Given the description of an element on the screen output the (x, y) to click on. 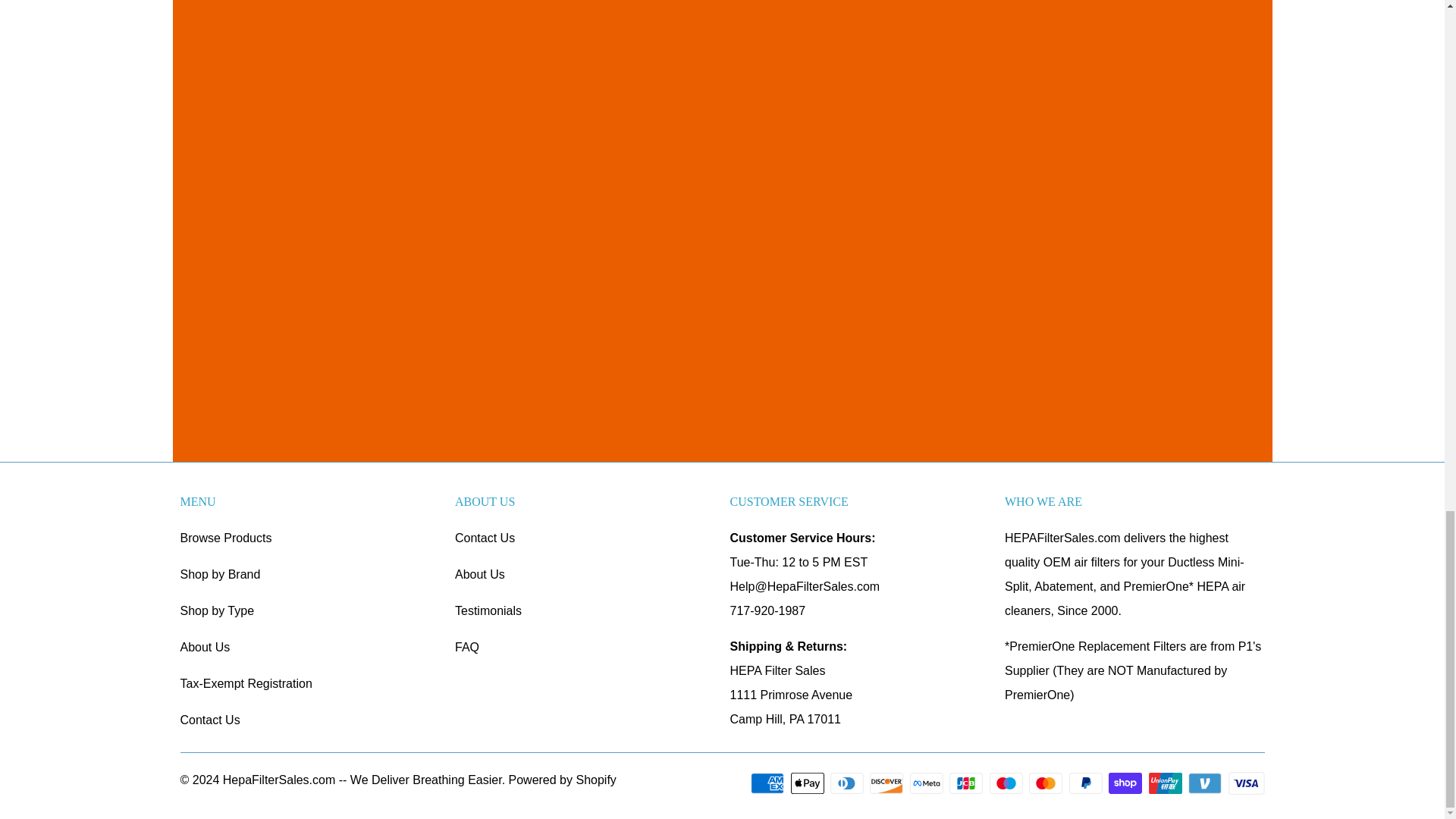
Discover (887, 783)
Shop Pay (1126, 783)
7179201987 (767, 610)
Meta Pay (928, 783)
Visa (1246, 783)
American Express (769, 783)
JCB (967, 783)
Venmo (1206, 783)
Union Pay (1166, 783)
Diners Club (847, 783)
